Given the description of an element on the screen output the (x, y) to click on. 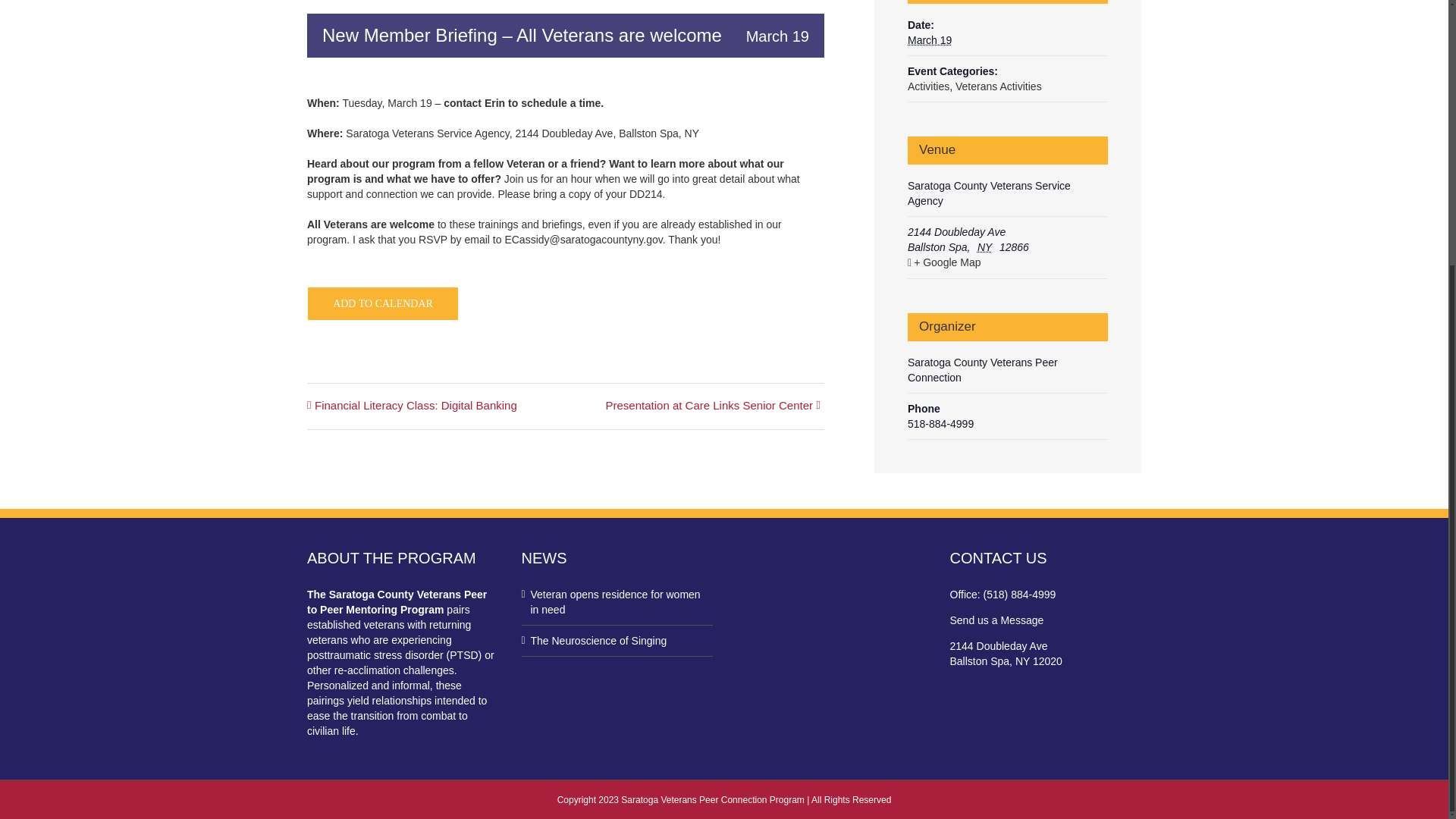
2024-03-19 (929, 39)
Page 1 (565, 148)
Click to view a Google Map (1006, 262)
ADD TO CALENDAR (382, 303)
Presentation at Care Links Senior Center (704, 406)
New York (985, 246)
Financial Literacy Class: Digital Banking (419, 406)
